Given the description of an element on the screen output the (x, y) to click on. 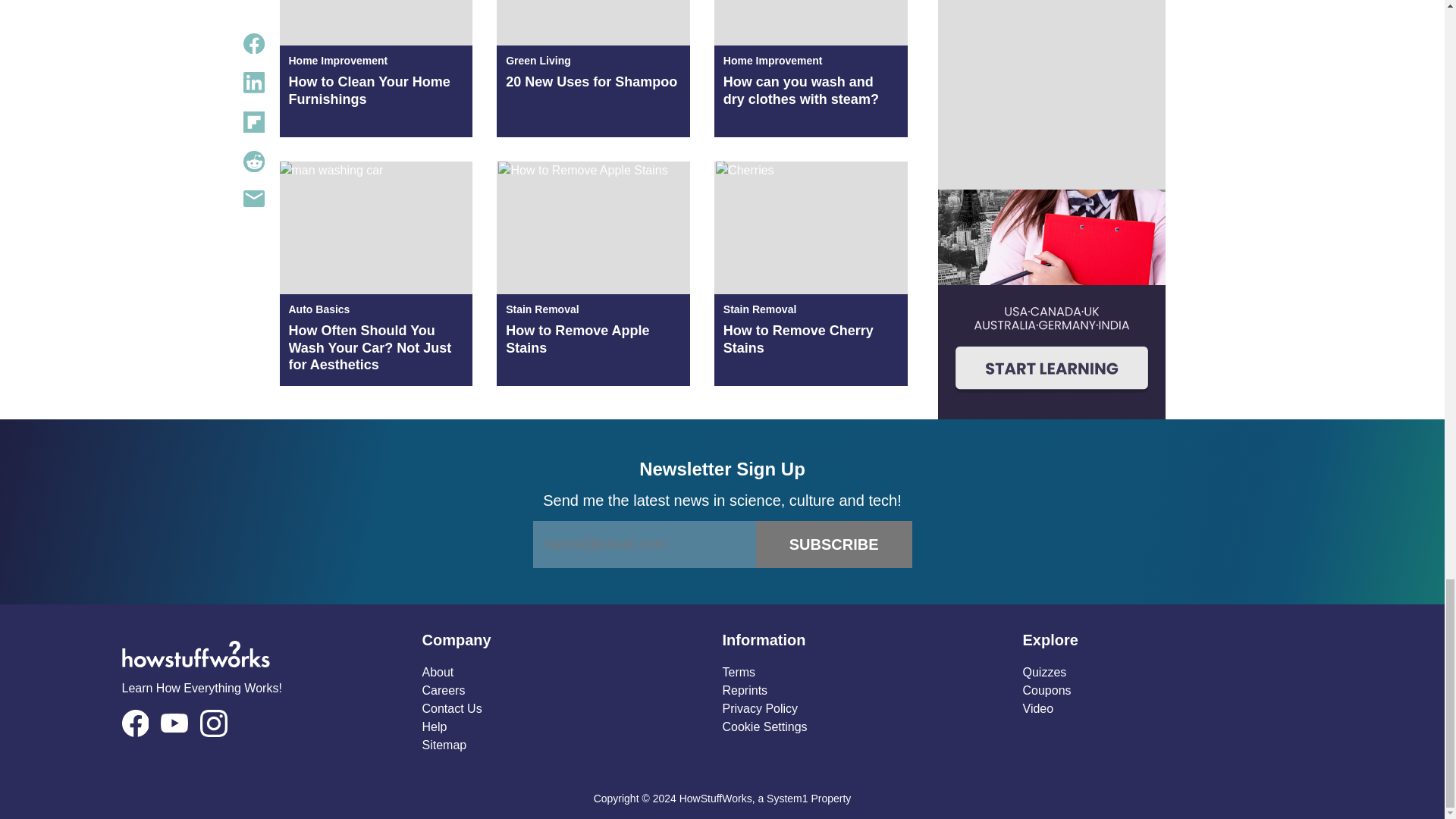
Visit HowStuffWorks on Facebook (134, 723)
Visit HowStuffWorks on Instagram (213, 723)
Subscribe (833, 544)
Visit HowStuffWorks on YouTube (173, 722)
